Given the description of an element on the screen output the (x, y) to click on. 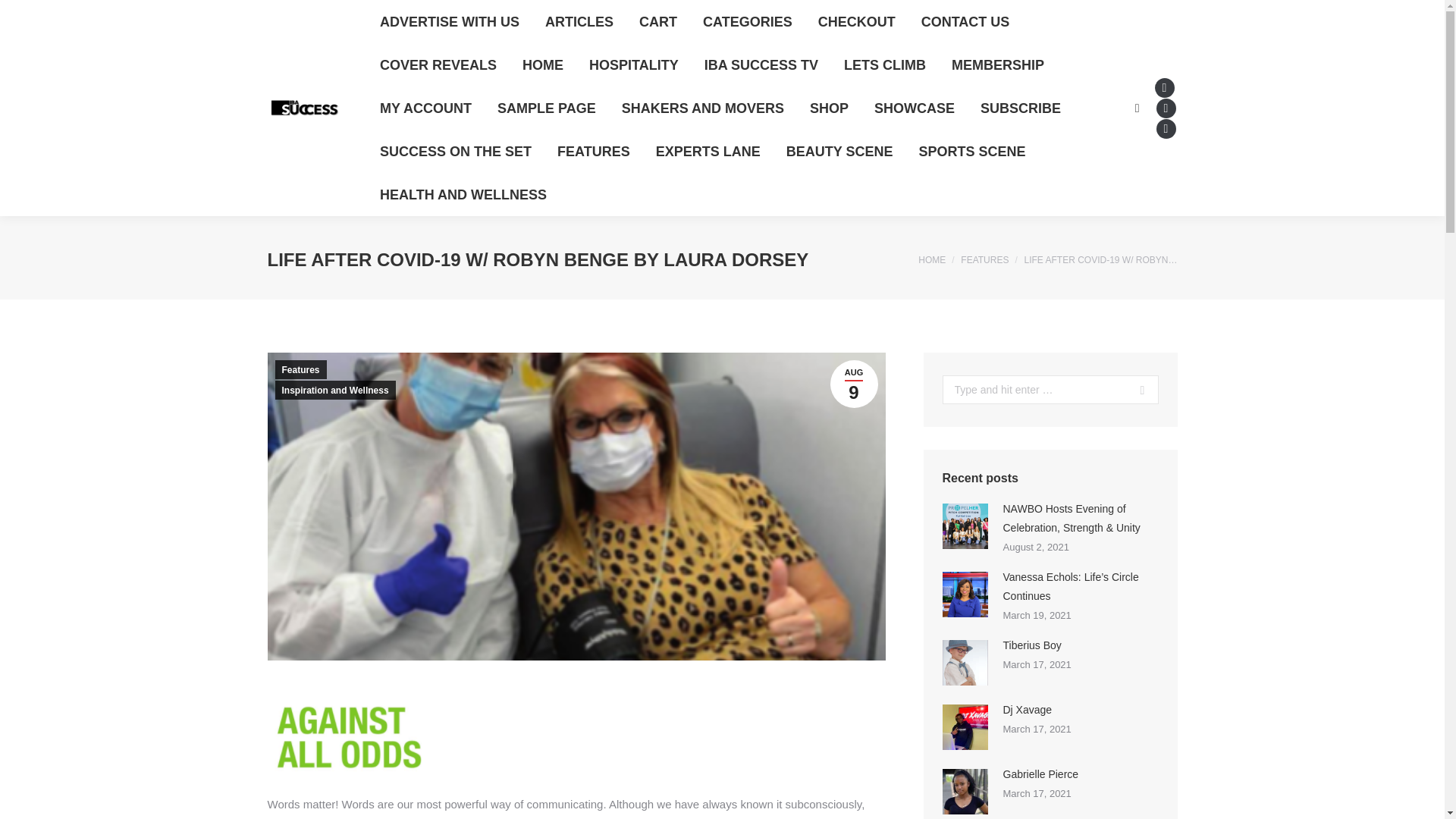
FEATURES (593, 151)
11:59 pm (853, 383)
Twitter (1165, 107)
LETS CLIMB (884, 64)
Go! (21, 14)
ADVERTISE WITH US (449, 21)
MY ACCOUNT (425, 108)
Twitter (1165, 107)
Instagram (1165, 128)
CONTACT US (965, 21)
SUBSCRIBE (1020, 108)
MEMBERSHIP (997, 64)
BEAUTY SCENE (839, 151)
SUCCESS ON THE SET (455, 151)
